Given the description of an element on the screen output the (x, y) to click on. 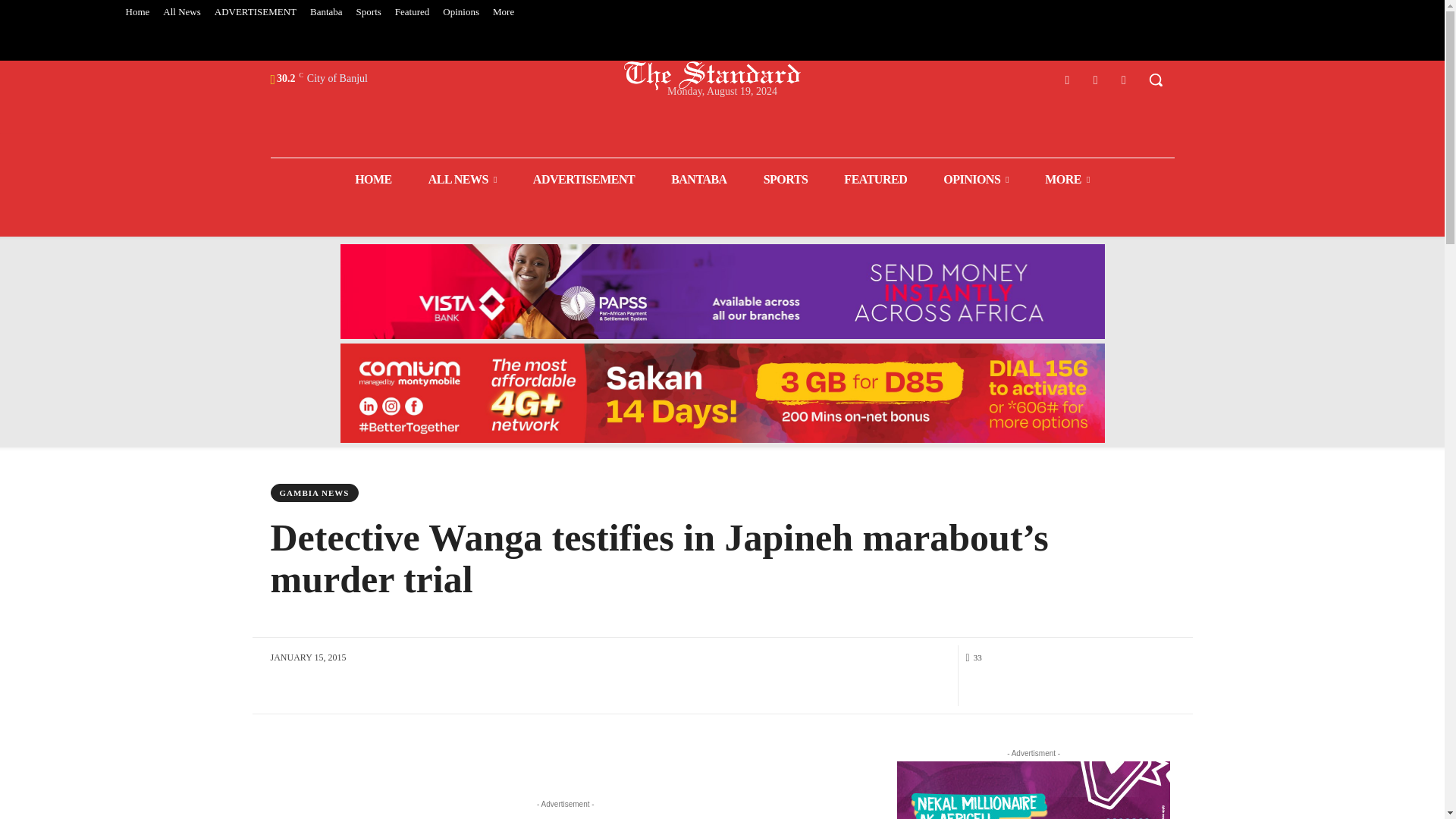
Youtube (1123, 79)
Facebook (1067, 79)
Bantaba (325, 12)
Home (136, 12)
Twitter (1094, 79)
Opinions (460, 12)
HOME (373, 178)
Sports (368, 12)
All News (180, 12)
ADVERTISEMENT (255, 12)
